Given the description of an element on the screen output the (x, y) to click on. 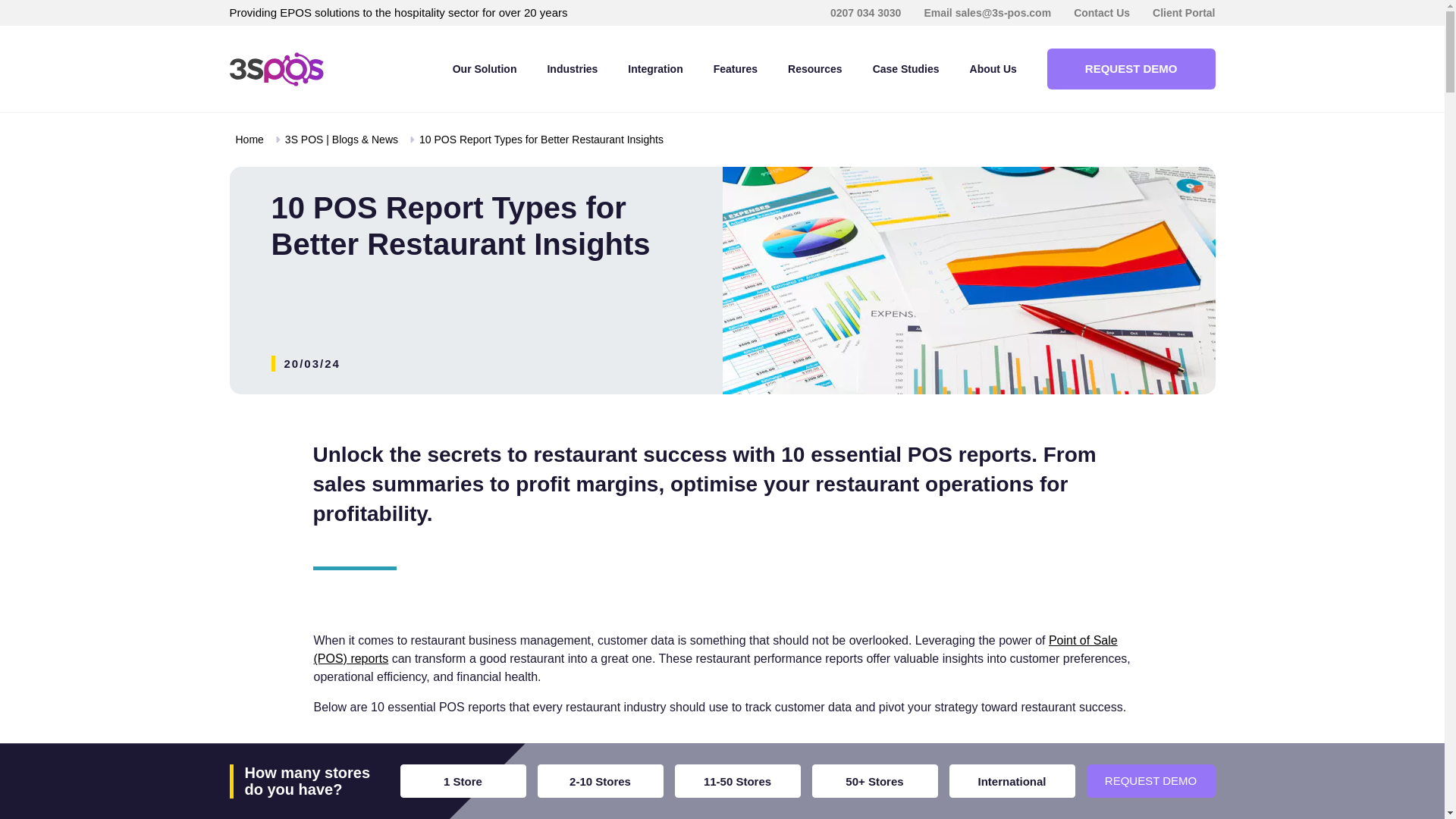
Client Portal (1183, 12)
0207 034 3030 (865, 12)
Contact Us (1101, 12)
